Given the description of an element on the screen output the (x, y) to click on. 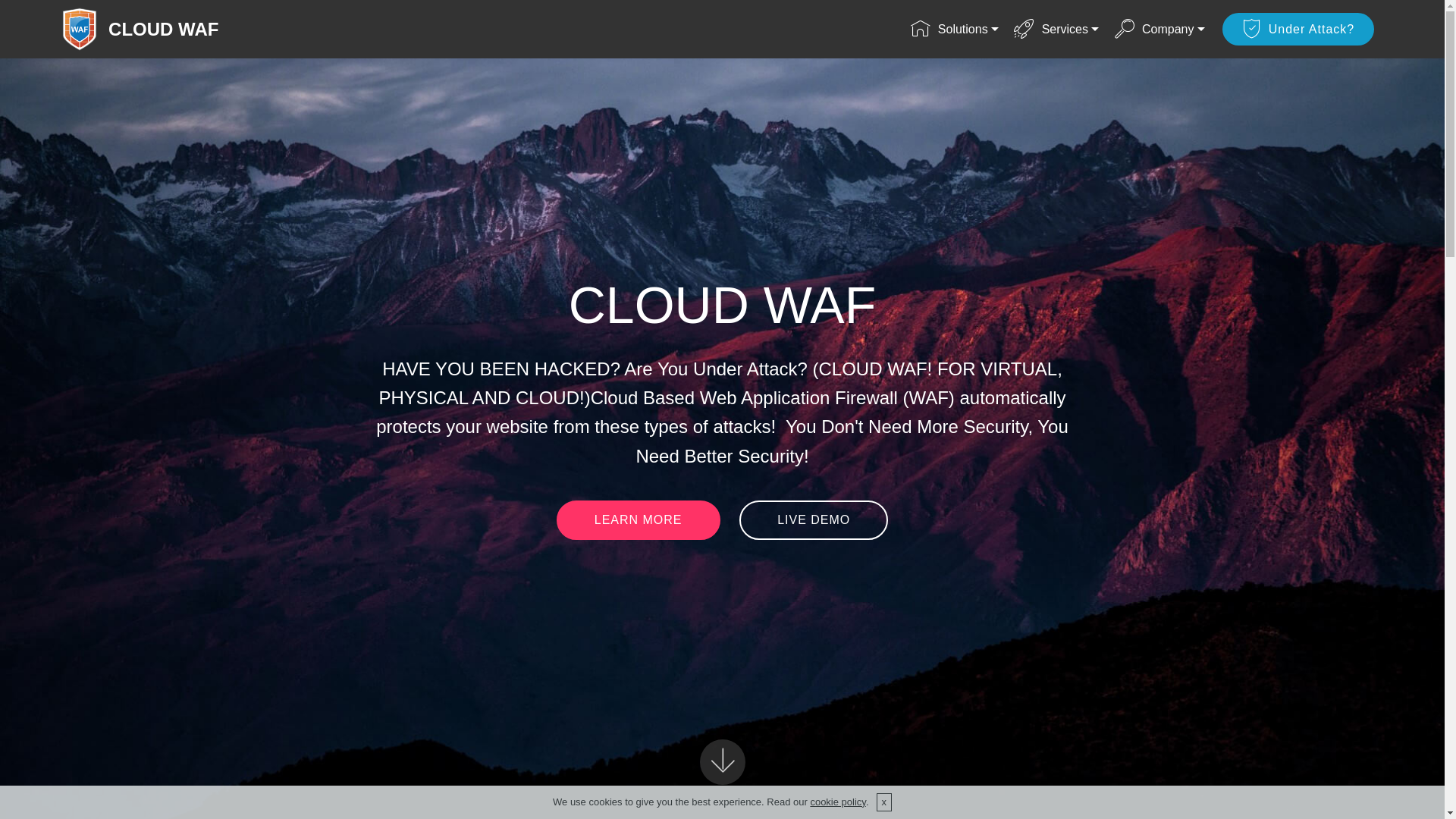
Solutions Element type: text (954, 28)
Company Element type: text (1159, 28)
Under Attack? Element type: text (1298, 28)
LIVE DEMO Element type: text (813, 519)
CLOUD WAF Element type: text (175, 28)
x Element type: text (884, 802)
Services Element type: text (1055, 28)
cookie policy Element type: text (837, 801)
LEARN MORE Element type: text (638, 519)
